Given the description of an element on the screen output the (x, y) to click on. 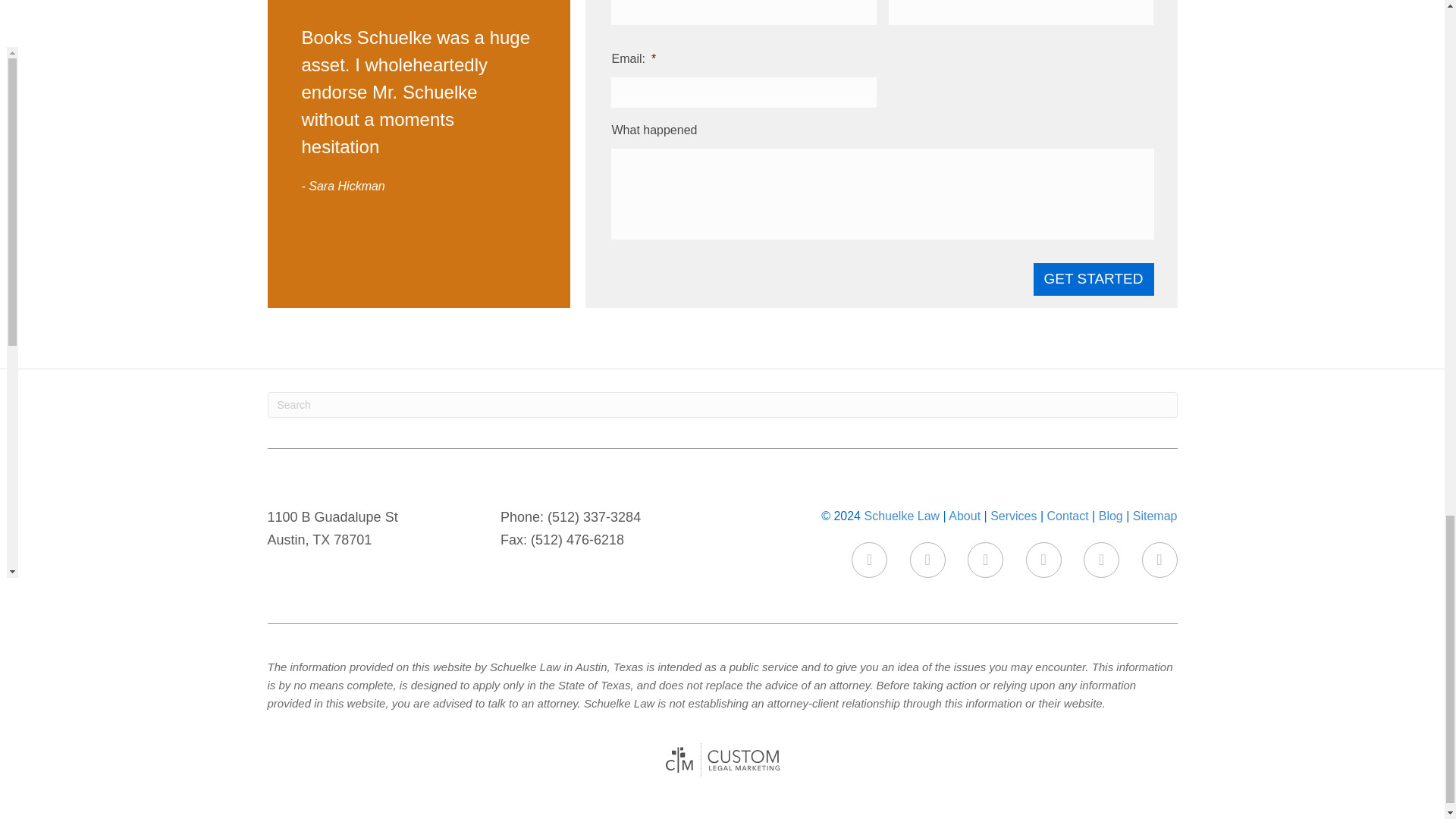
Type and press Enter to search. (721, 404)
GET STARTED (1093, 278)
Custom Legal Marketing (721, 759)
